Given the description of an element on the screen output the (x, y) to click on. 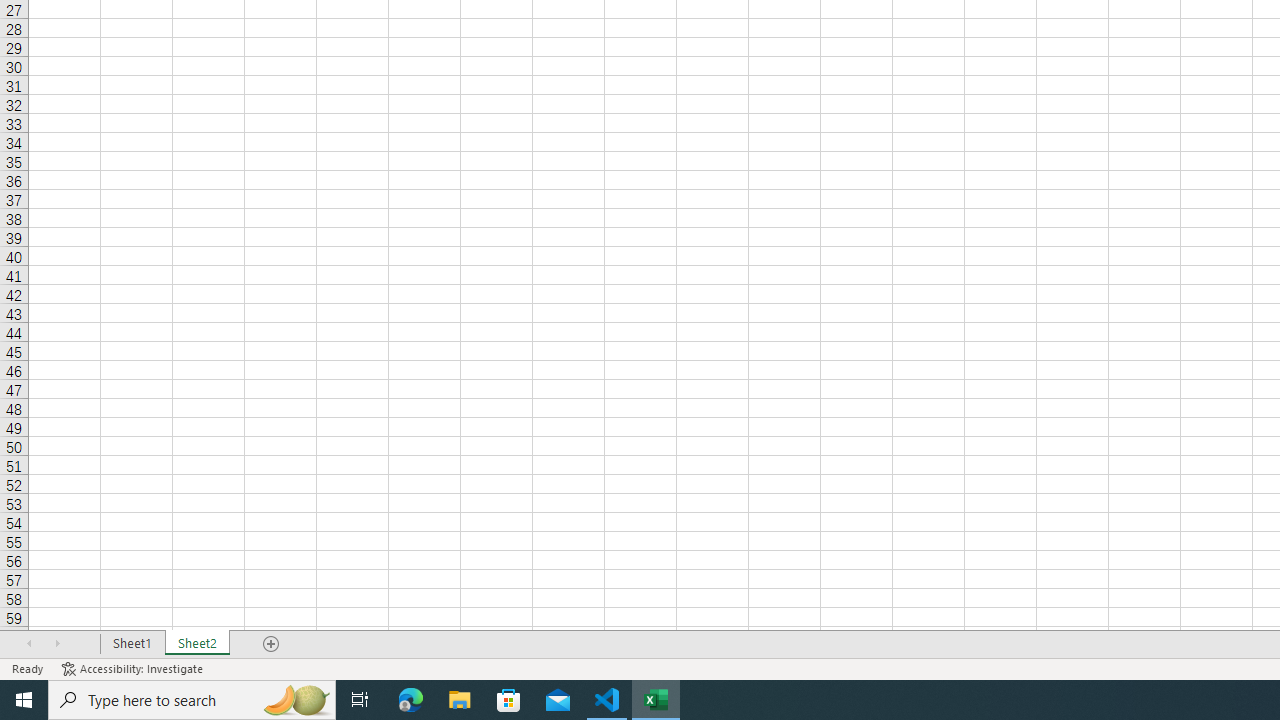
Accessibility Checker Accessibility: Investigate (134, 668)
Sheet2 (197, 644)
